Given the description of an element on the screen output the (x, y) to click on. 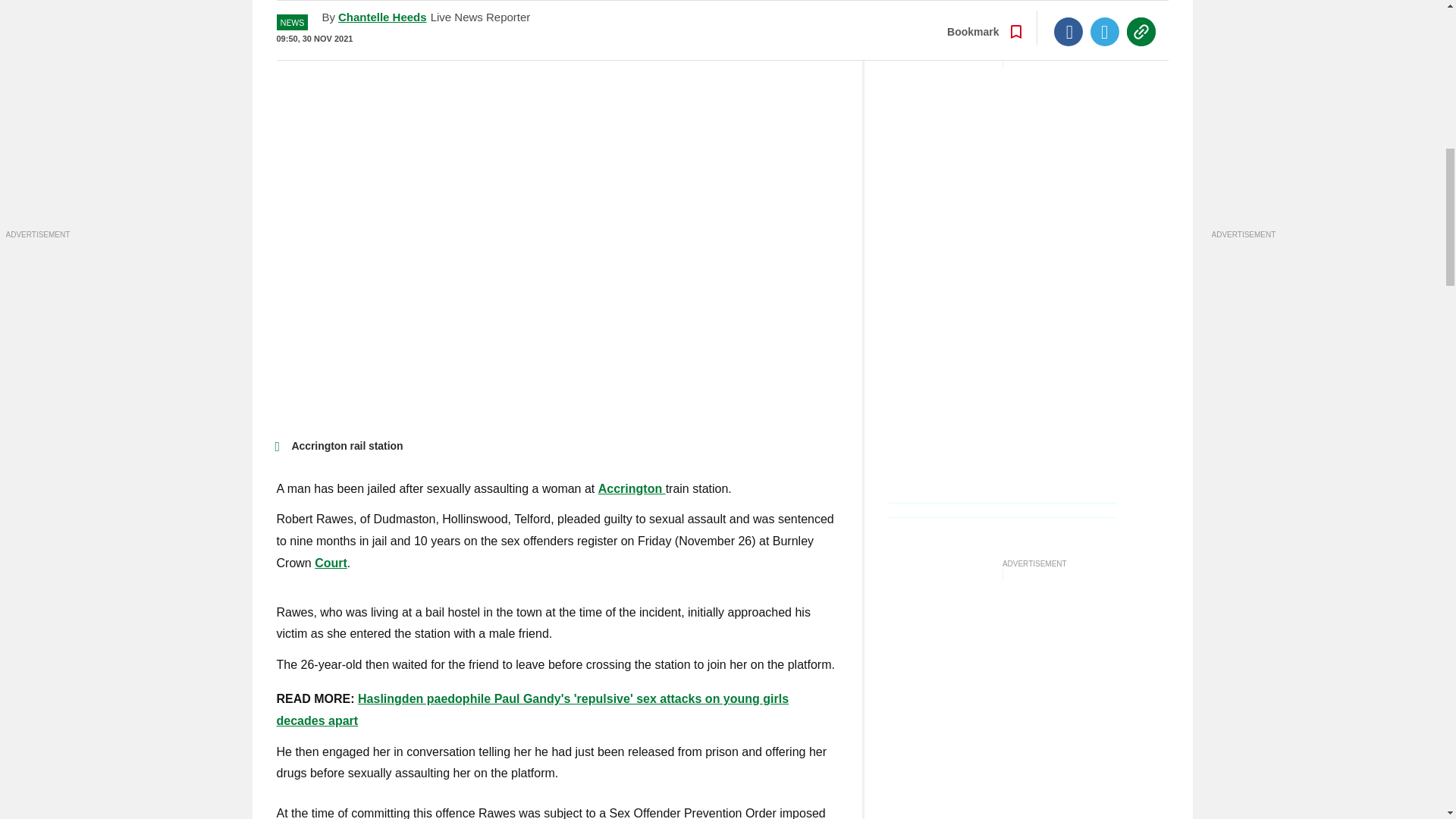
Go (730, 29)
